Given the description of an element on the screen output the (x, y) to click on. 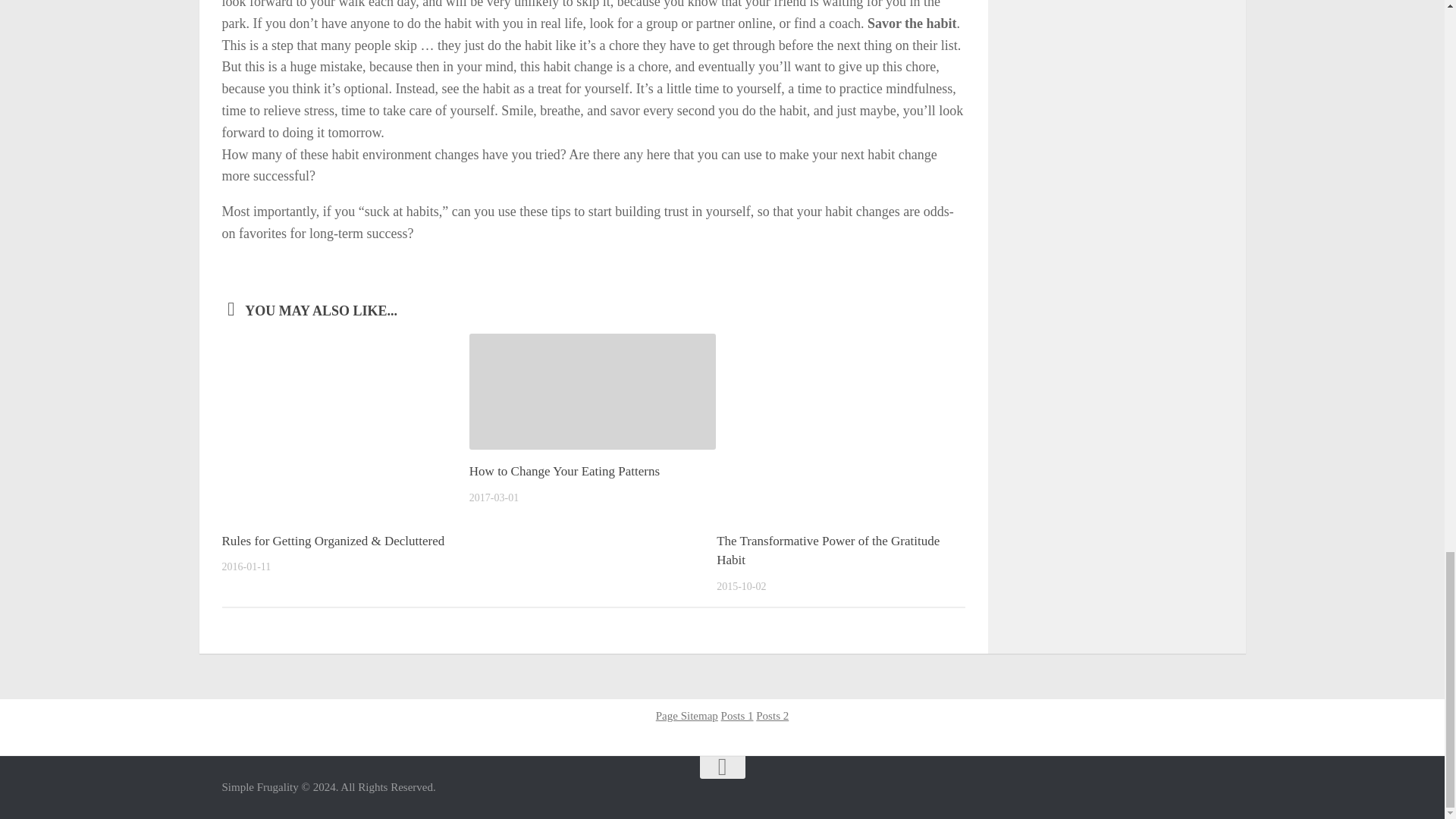
How to Change Your Eating Patterns (563, 471)
The Transformative Power of the Gratitude Habit (827, 550)
